Given the description of an element on the screen output the (x, y) to click on. 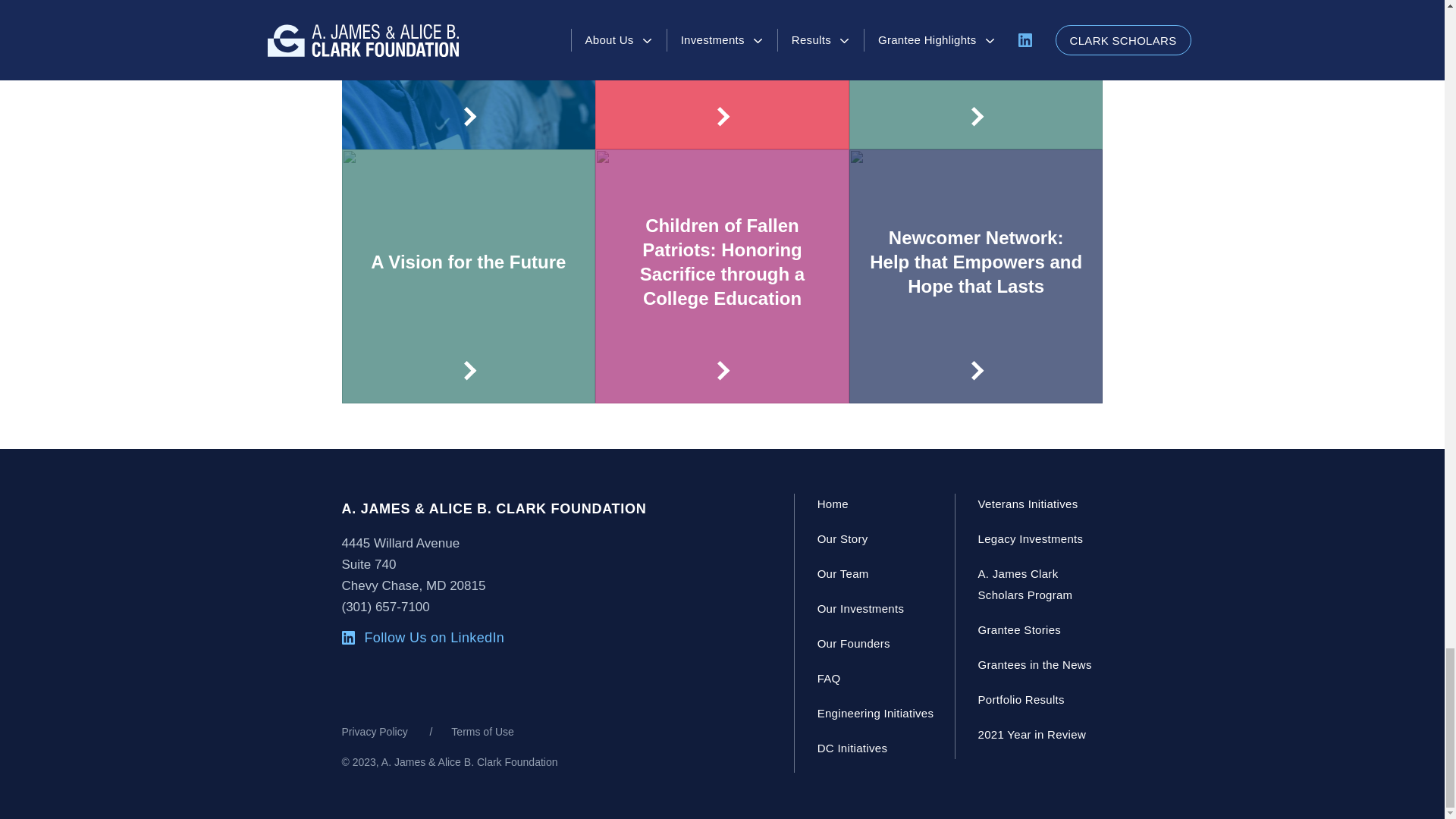
Follow Us on LinkedIn (421, 637)
Newcomer Network: Help that Empowers and Hope that Lasts (975, 276)
Our Team (842, 573)
Our Founders (852, 643)
FAQ (828, 677)
Engineering Initiatives (875, 712)
Our Investments (860, 608)
Our Story (841, 538)
Literacy As a Human Right (975, 74)
Home (832, 503)
A Vision for the Future (467, 276)
